Given the description of an element on the screen output the (x, y) to click on. 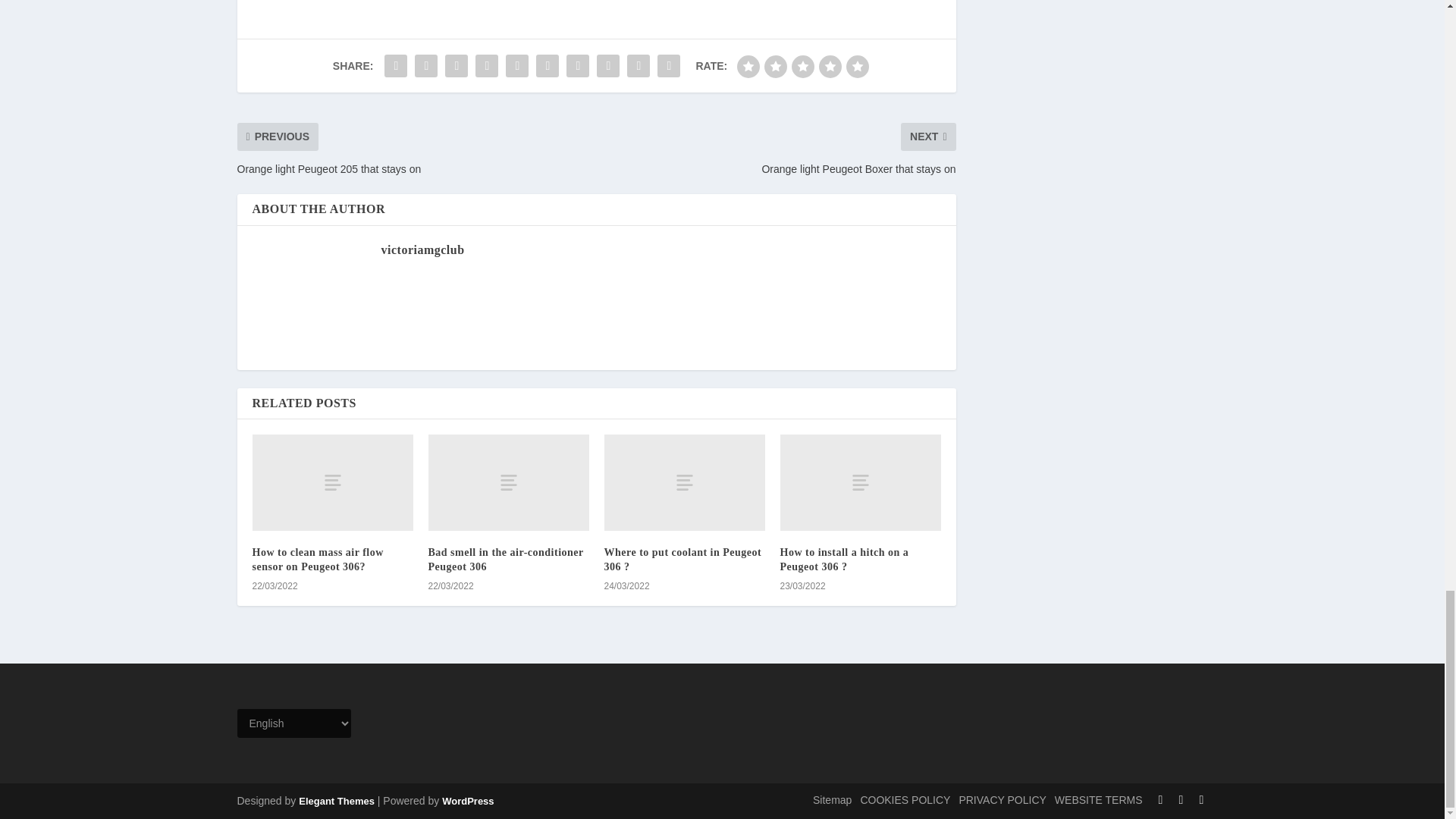
How to clean mass air flow sensor on Peugeot 306? (316, 559)
victoriamgclub (422, 248)
